Given the description of an element on the screen output the (x, y) to click on. 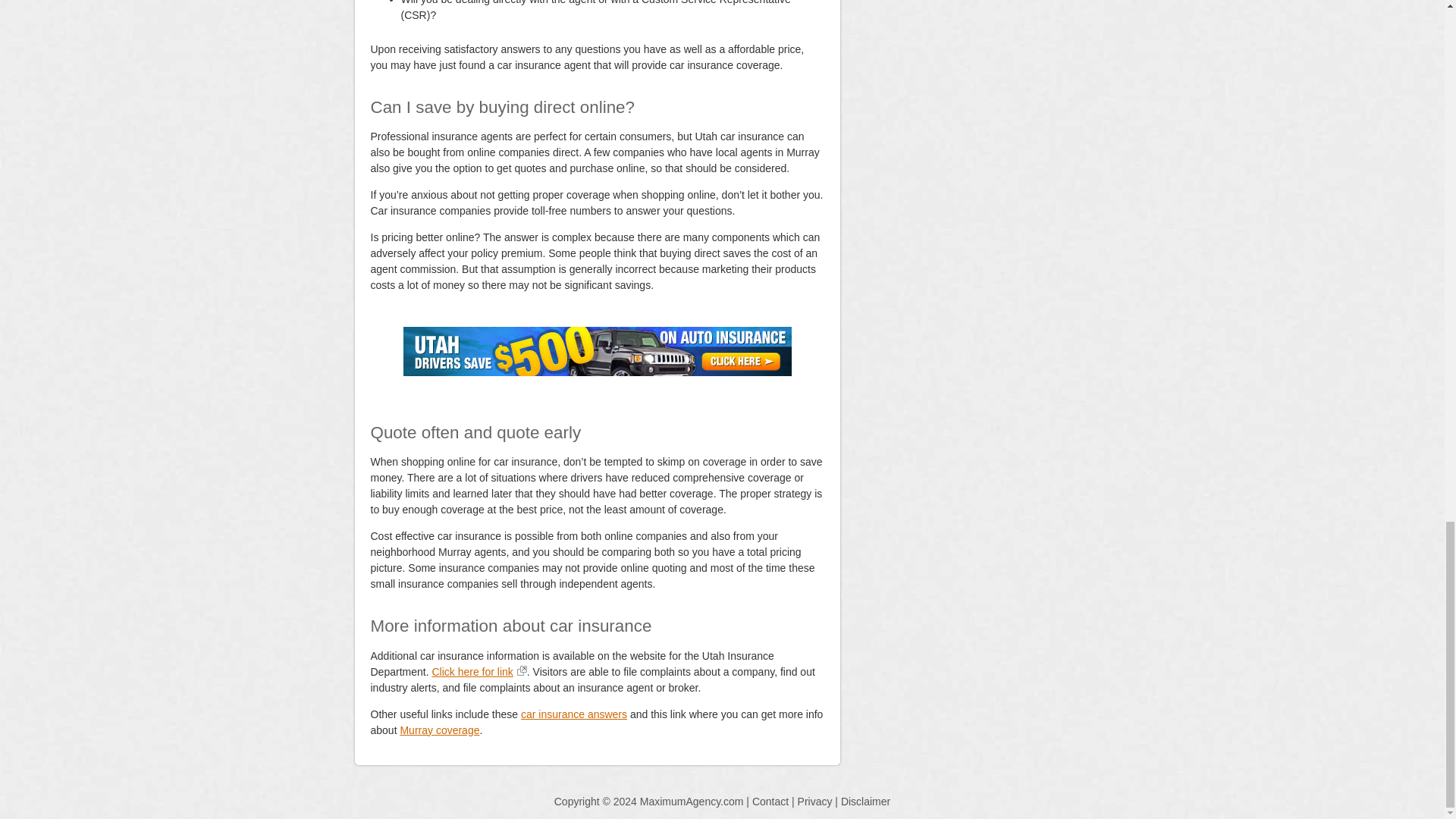
Murray coverage (438, 729)
Privacy (814, 801)
Contact (770, 801)
Click here for link (477, 671)
car insurance answers (574, 714)
Disclaimer (865, 801)
